Given the description of an element on the screen output the (x, y) to click on. 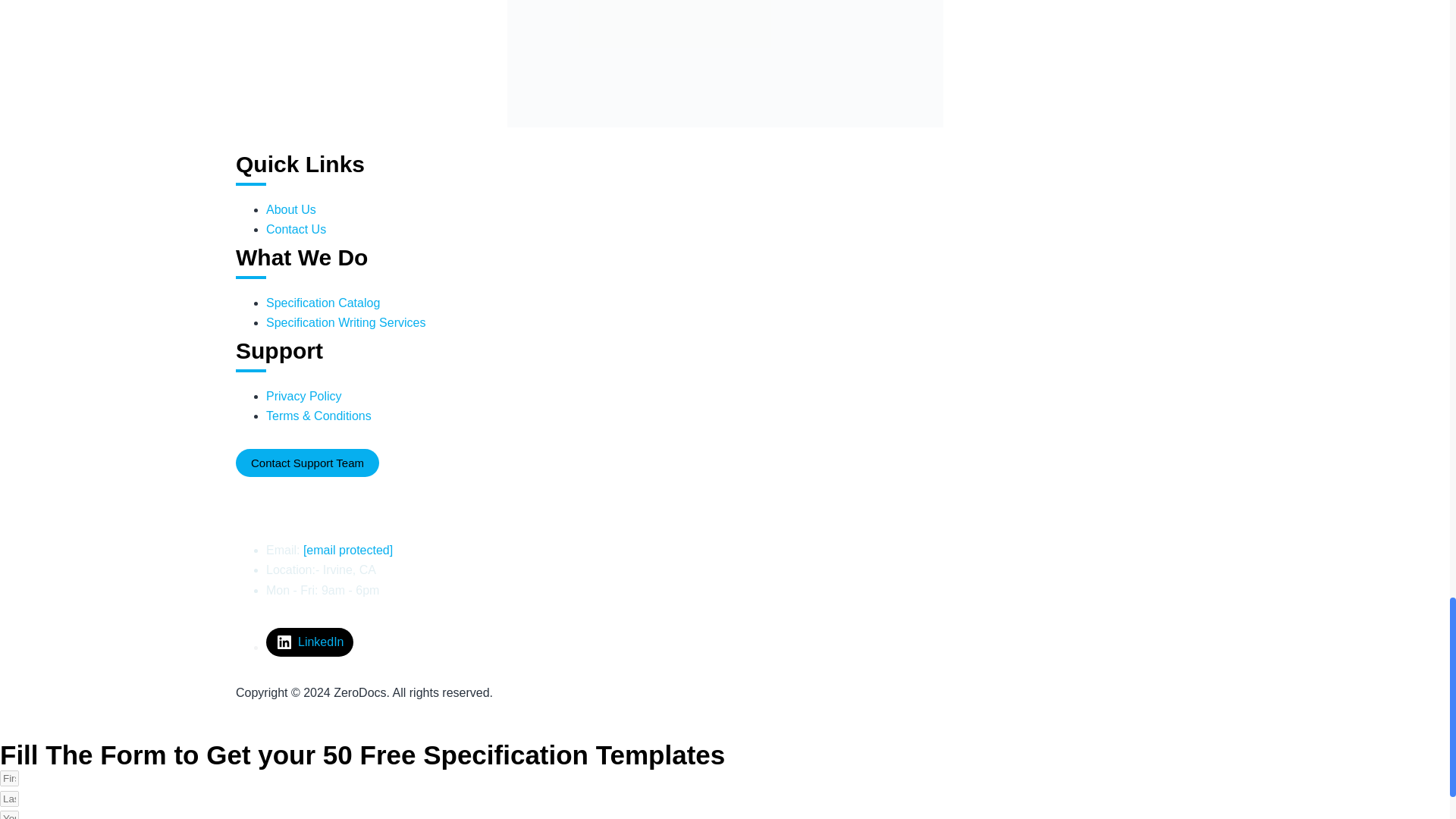
Contact Support Team (306, 462)
Specification Catalog (323, 302)
Contact Us (296, 228)
Specification Writing Services (345, 322)
About Us (290, 209)
Privacy Policy (304, 395)
LinkedIn (309, 642)
